Given the description of an element on the screen output the (x, y) to click on. 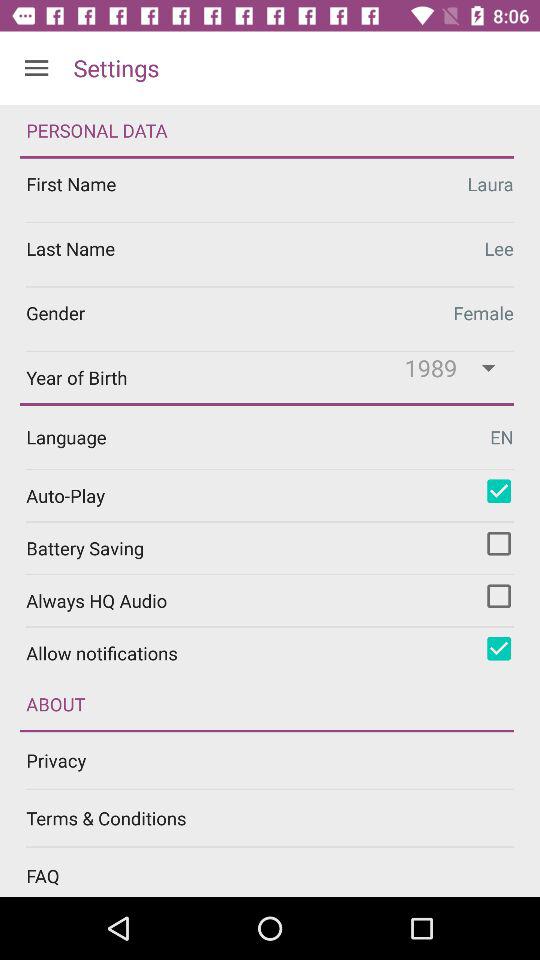
switch autoplay option (499, 491)
